Given the description of an element on the screen output the (x, y) to click on. 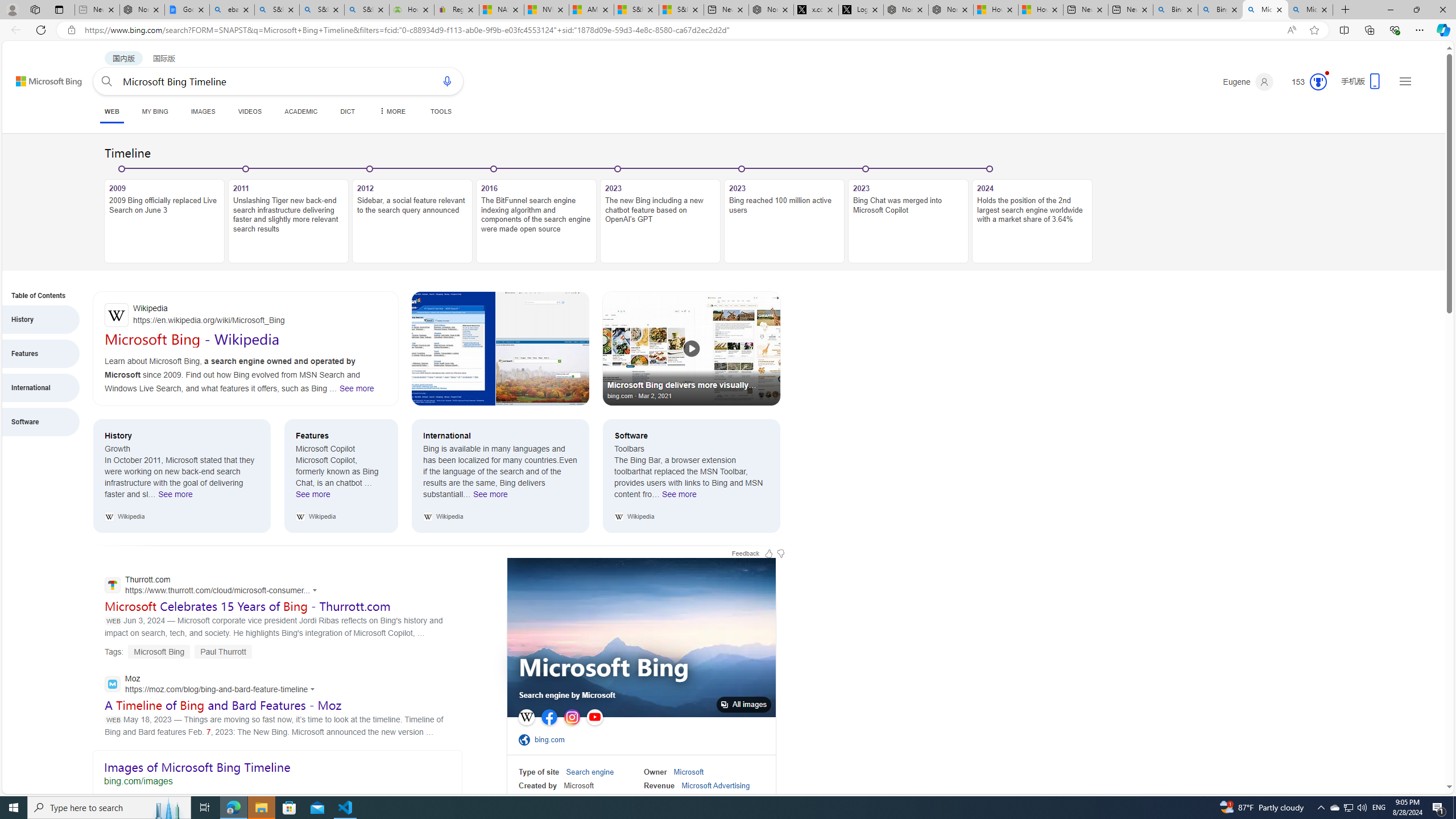
Microsoft Bing Timeline - Search (1310, 9)
Created by (537, 785)
DICT (346, 111)
See more Software (679, 496)
Search button (106, 80)
DICT (346, 111)
Microsoft Bing - Wikipedia (191, 339)
Settings and quick links (1404, 80)
All images (641, 637)
Revenue (659, 785)
Tags: Microsoft Bing Paul Thurrott (177, 651)
Search more (1423, 753)
Facebook (549, 716)
